Given the description of an element on the screen output the (x, y) to click on. 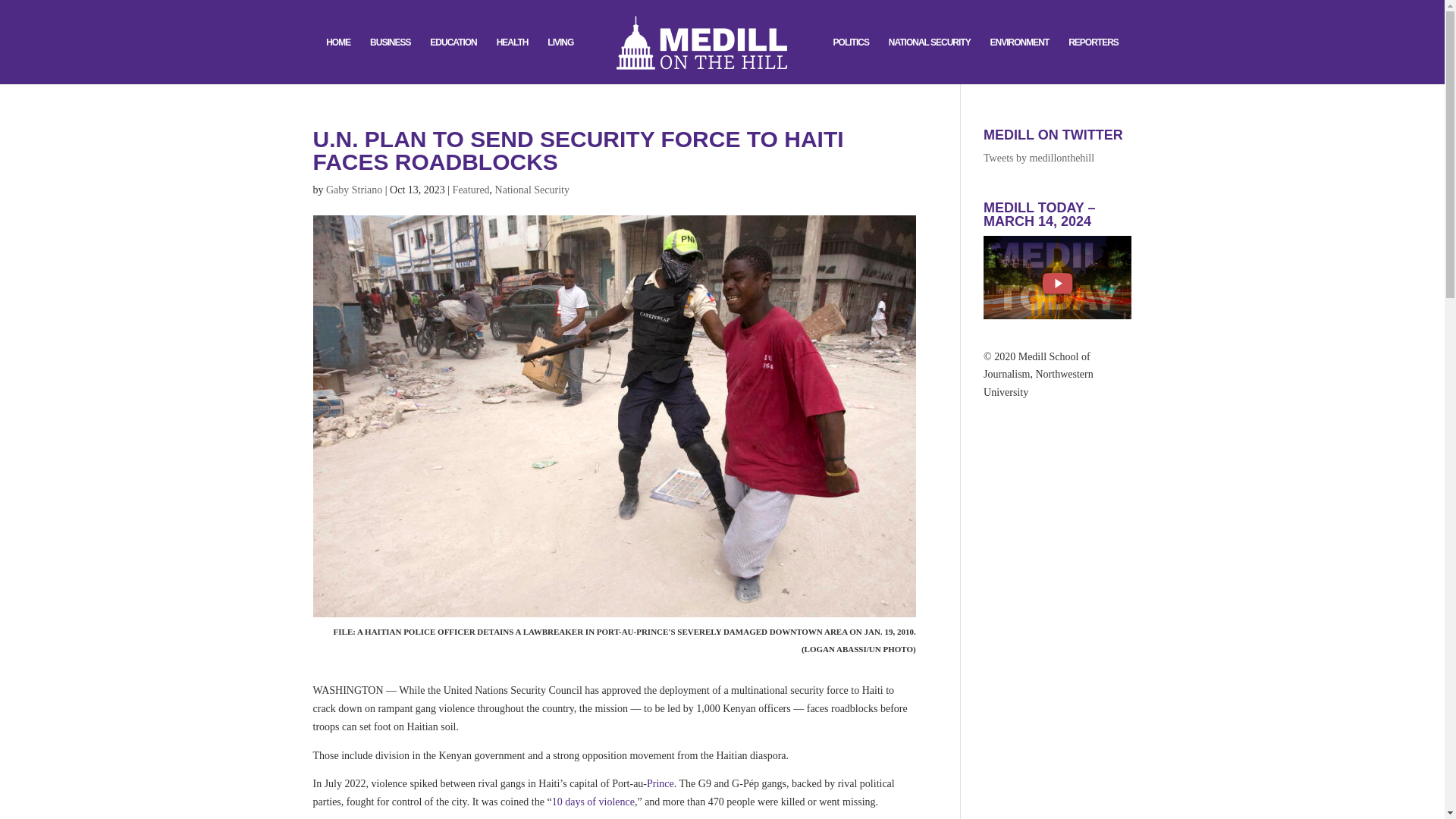
Tweets by medillonthehill (1039, 157)
ENVIRONMENT (1019, 60)
EDUCATION (452, 60)
10 days of violence (592, 801)
Prince (660, 783)
Prince (660, 783)
Gaby Striano (353, 189)
NATIONAL SECURITY (929, 60)
Featured (470, 189)
Posts by Gaby Striano (353, 189)
REPORTERS (1093, 60)
National Security (532, 189)
